Given the description of an element on the screen output the (x, y) to click on. 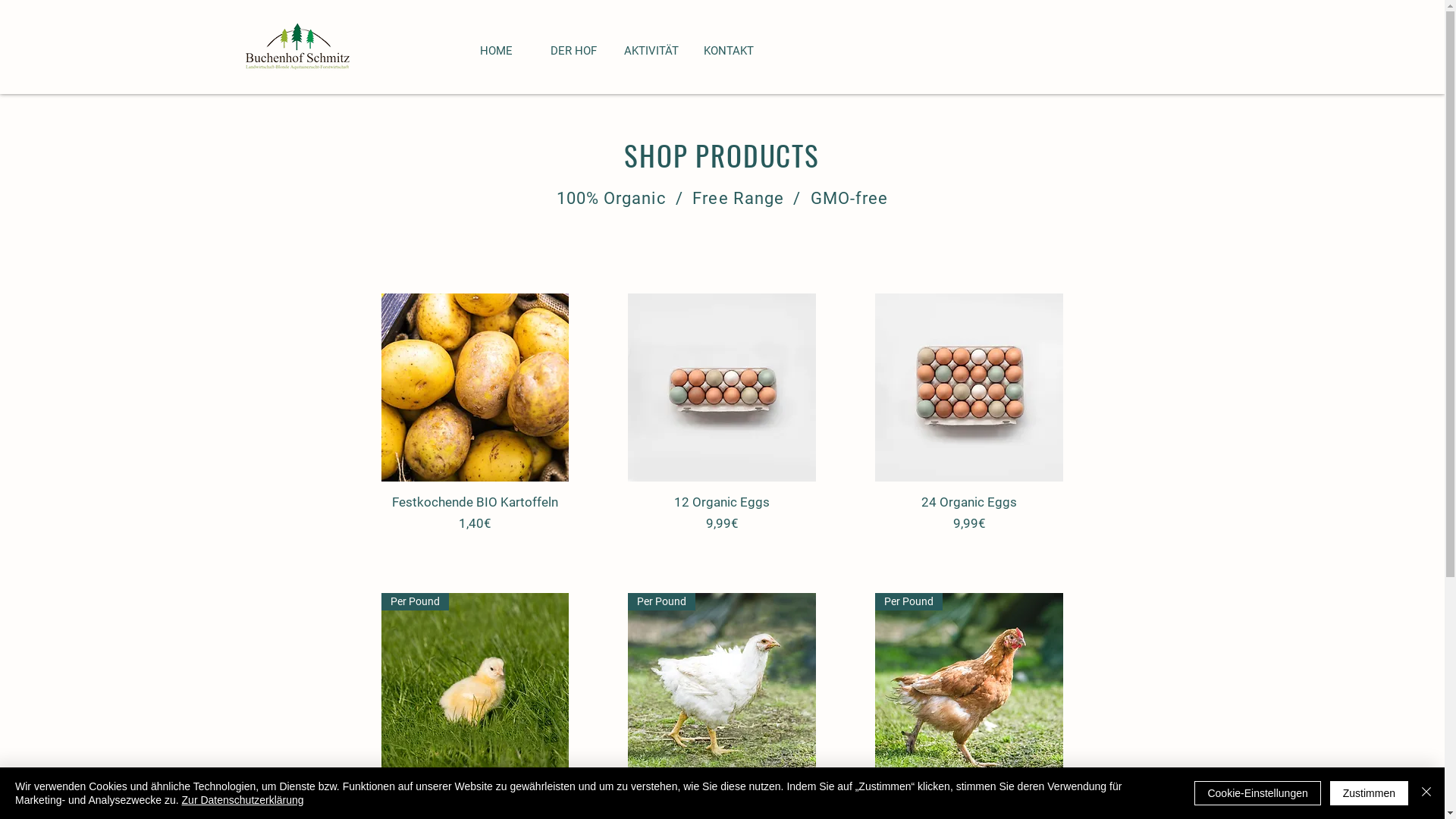
Zustimmen Element type: text (1369, 793)
Cookie-Einstellungen Element type: text (1257, 793)
HOME Element type: text (496, 50)
KONTAKT Element type: text (728, 50)
Per Pound Element type: text (474, 687)
Per Pound Element type: text (969, 687)
DER HOF Element type: text (573, 50)
Per Pound Element type: text (721, 687)
